Given the description of an element on the screen output the (x, y) to click on. 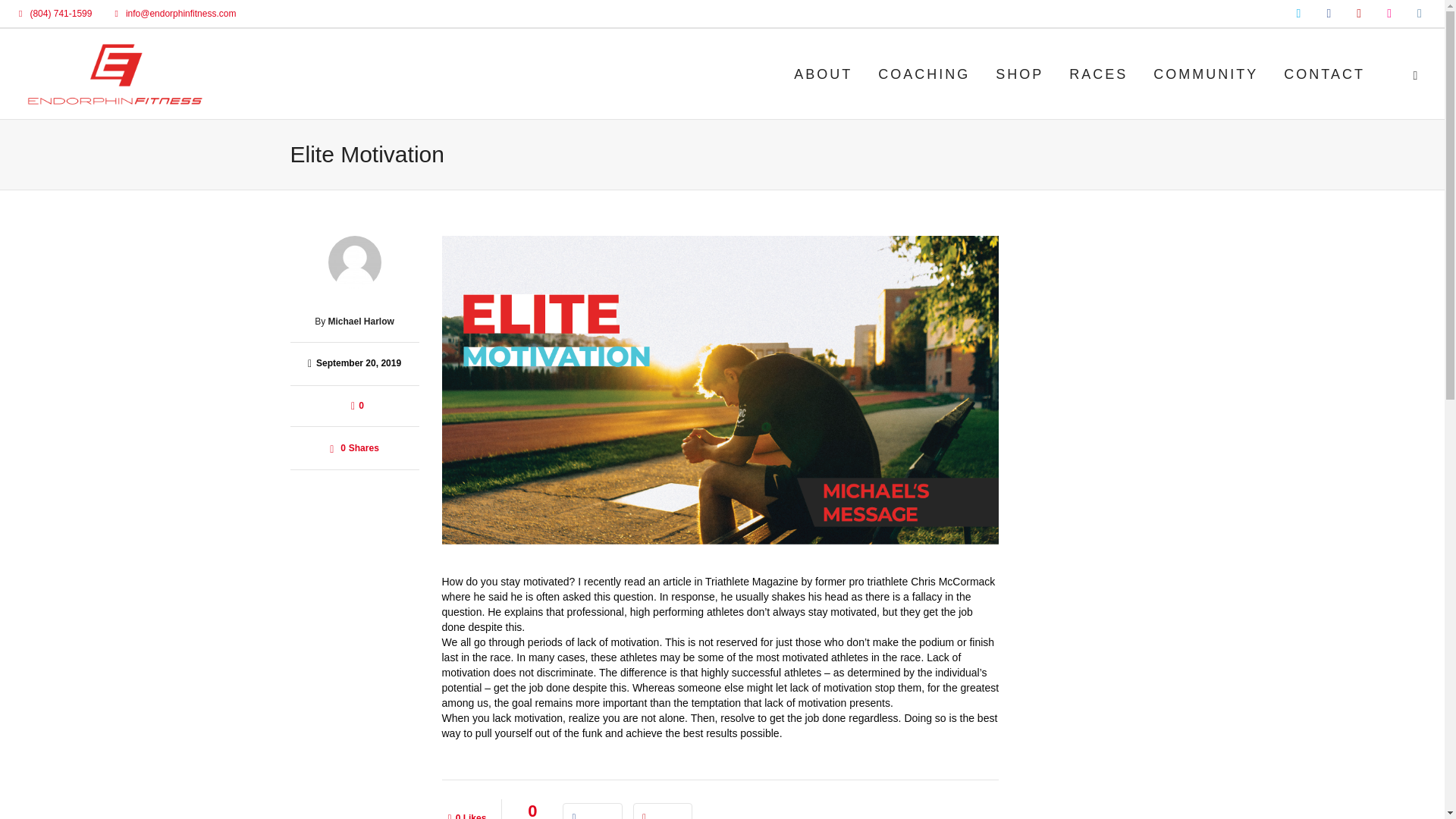
0 Likes (466, 809)
COMMUNITY (1205, 73)
COACHING (923, 73)
0 (357, 405)
ABOUT (823, 73)
RACES (1098, 73)
0 Shares (354, 447)
Michael Harlow (360, 321)
CONTACT (1323, 73)
0 Shares (354, 447)
